Given the description of an element on the screen output the (x, y) to click on. 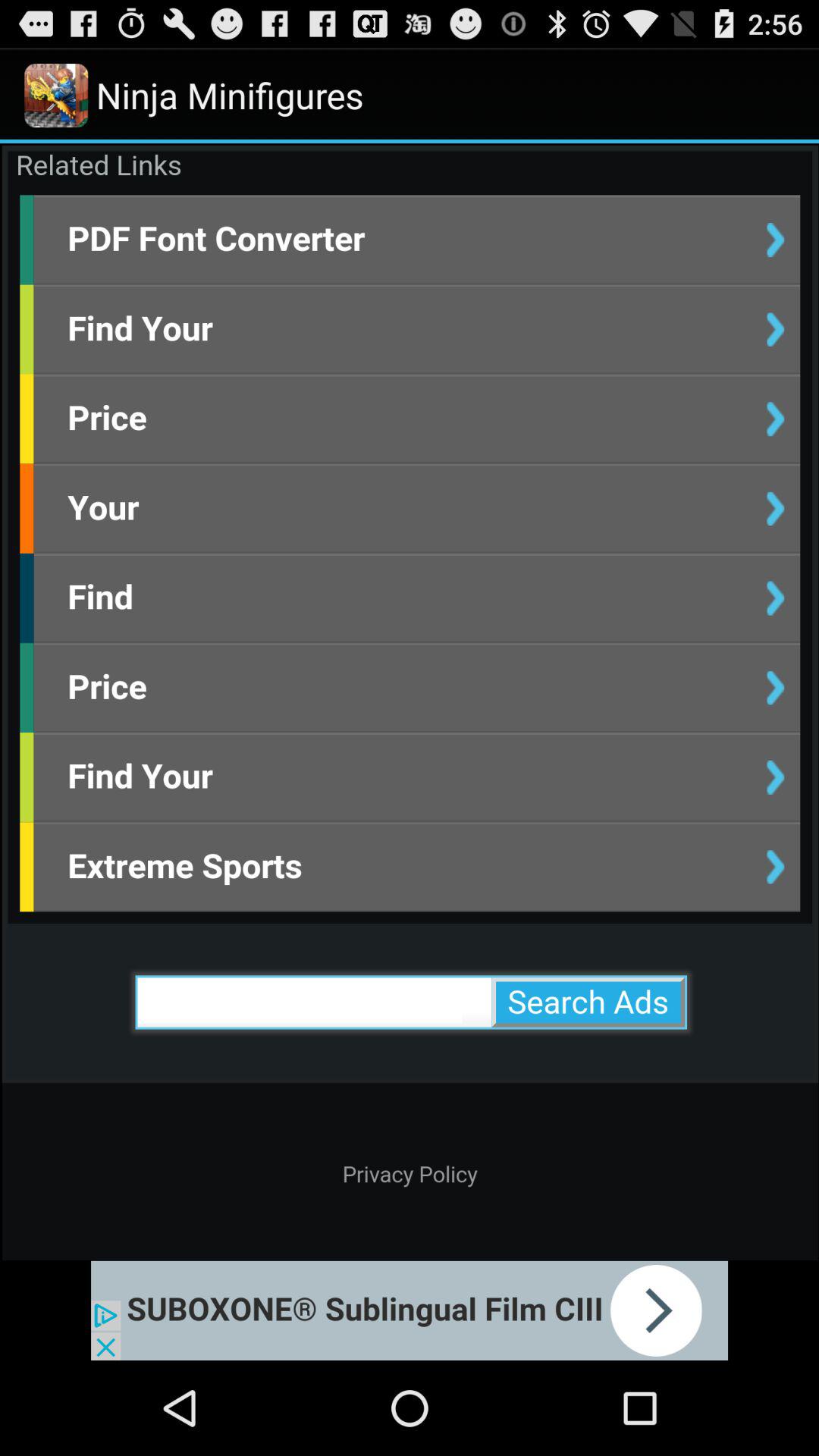
click on advertisement (409, 1310)
